Given the description of an element on the screen output the (x, y) to click on. 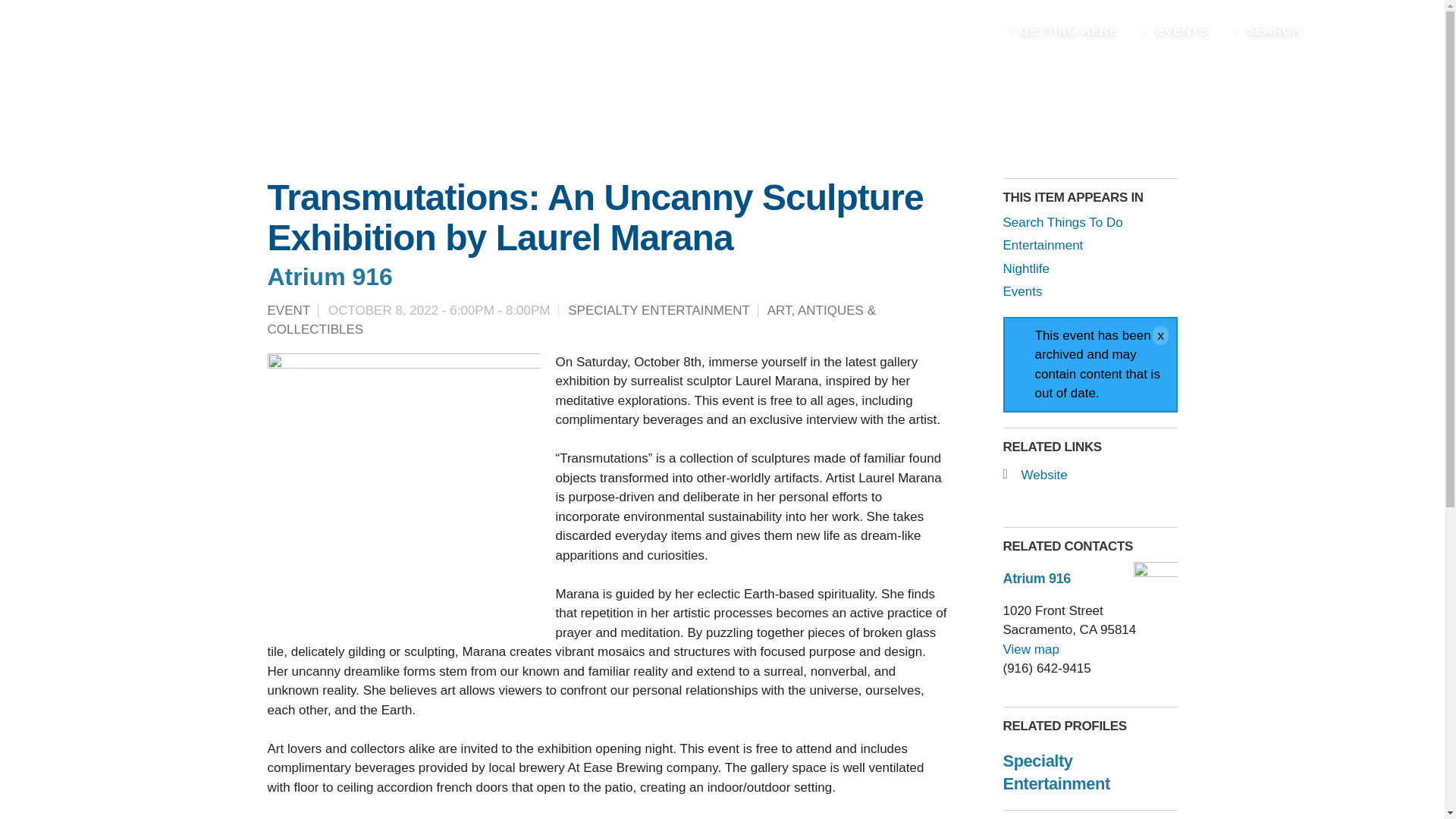
GETTING HERE (1063, 30)
SEARCH (1267, 30)
Back to home (170, 54)
EVENTS (1176, 30)
